Given the description of an element on the screen output the (x, y) to click on. 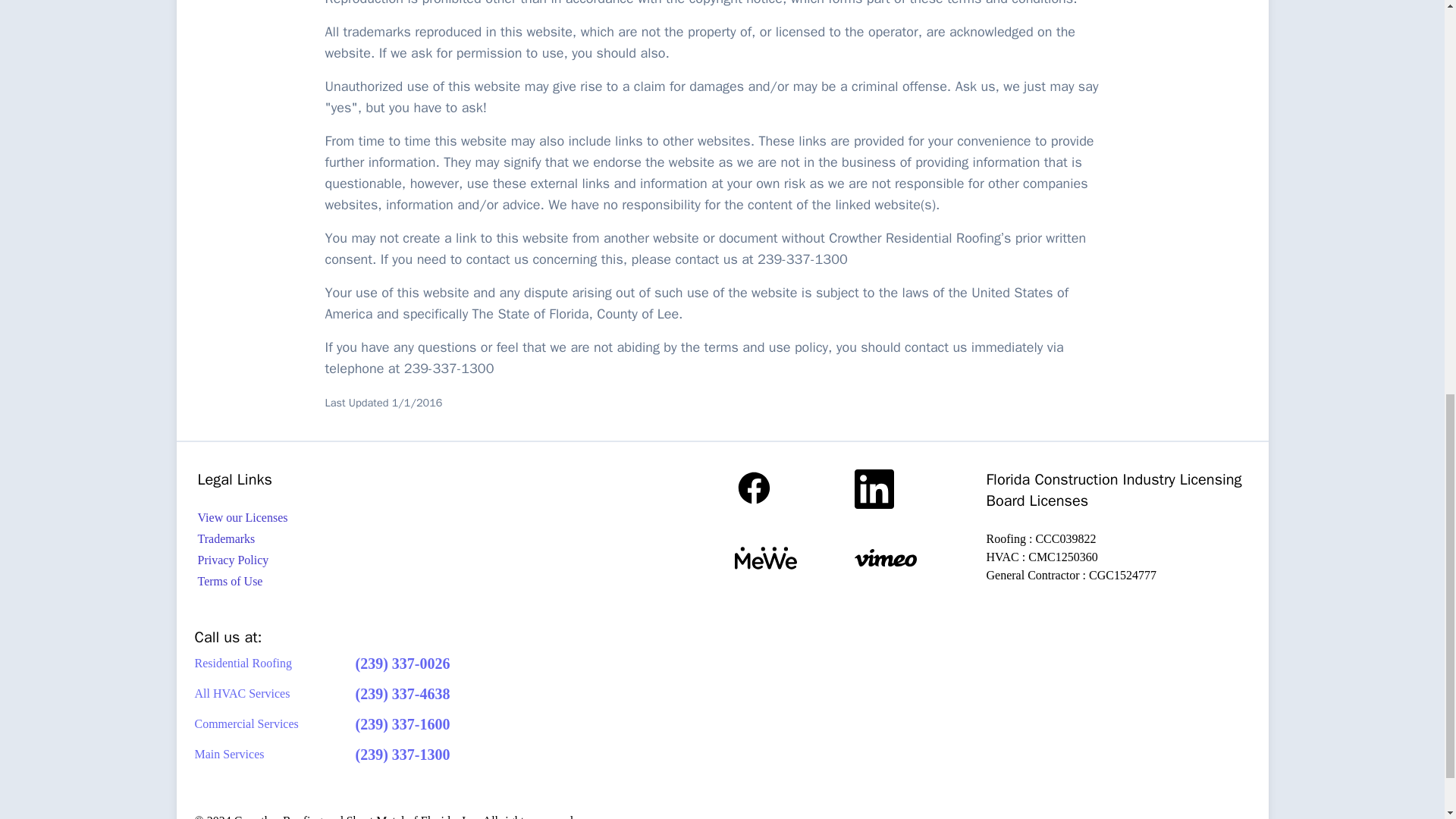
Visit our Facebook Page (793, 488)
View our Licenses (325, 517)
Terms of Use (325, 581)
Privacy Policy (325, 560)
Visit us on Vimeo (913, 557)
Trademarks (325, 538)
Visit us on MeWe (793, 557)
Visit our LinkedIn Page (913, 488)
